Given the description of an element on the screen output the (x, y) to click on. 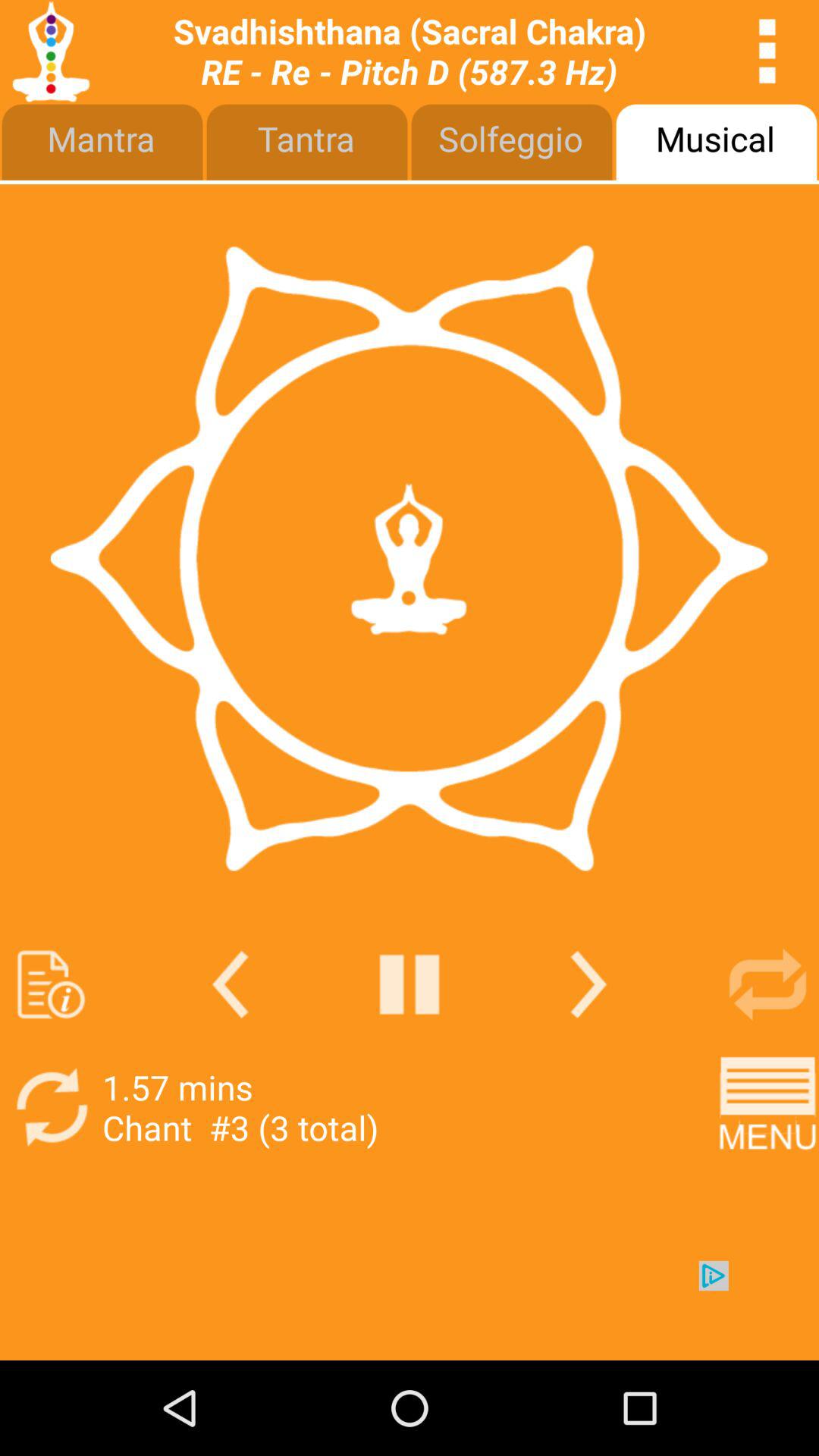
settings button (767, 51)
